Given the description of an element on the screen output the (x, y) to click on. 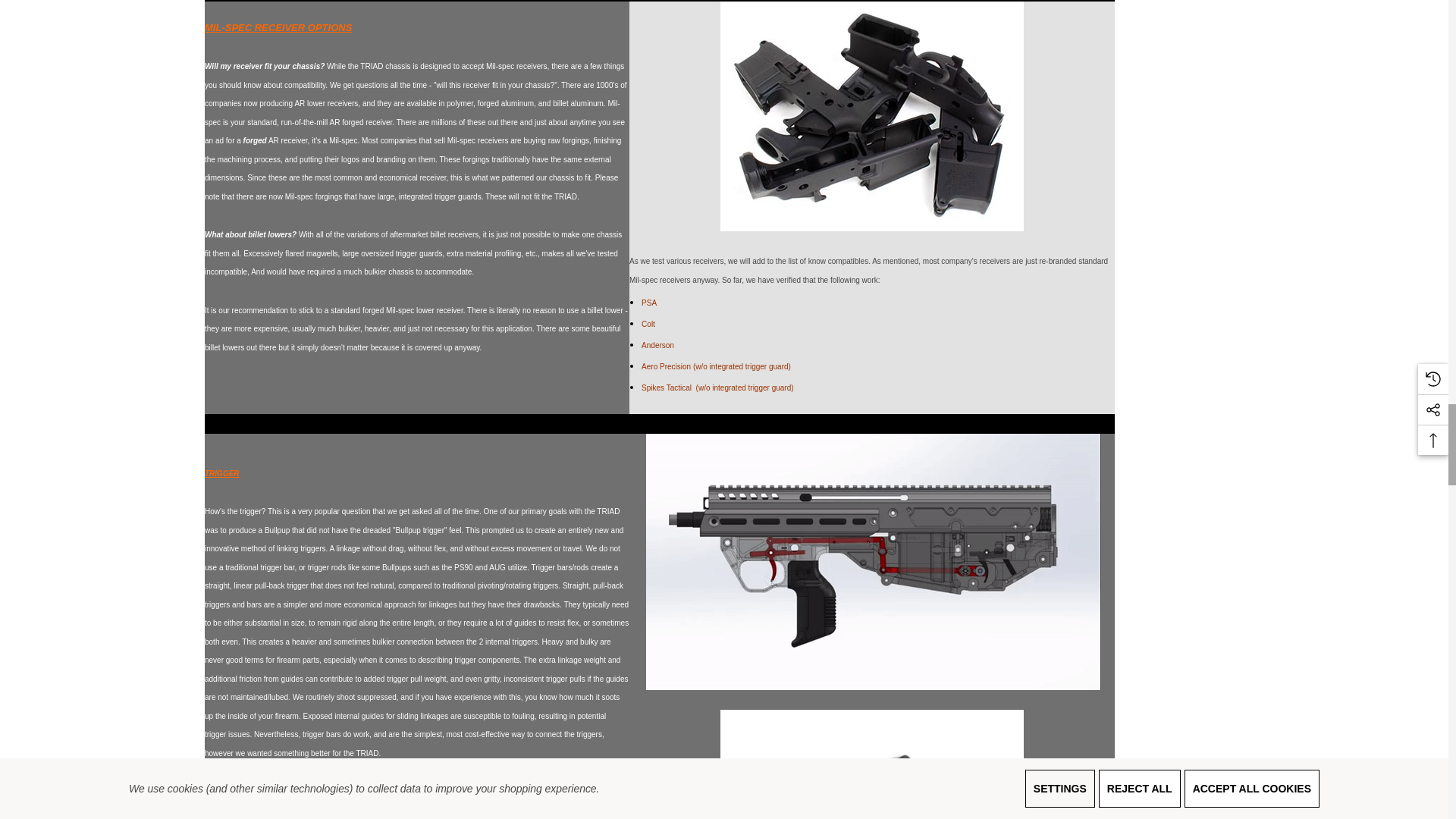
rave-04.jpg (871, 764)
ezgif.com-optimize-1-.gif (873, 562)
img-3947.jpg (871, 115)
